Given the description of an element on the screen output the (x, y) to click on. 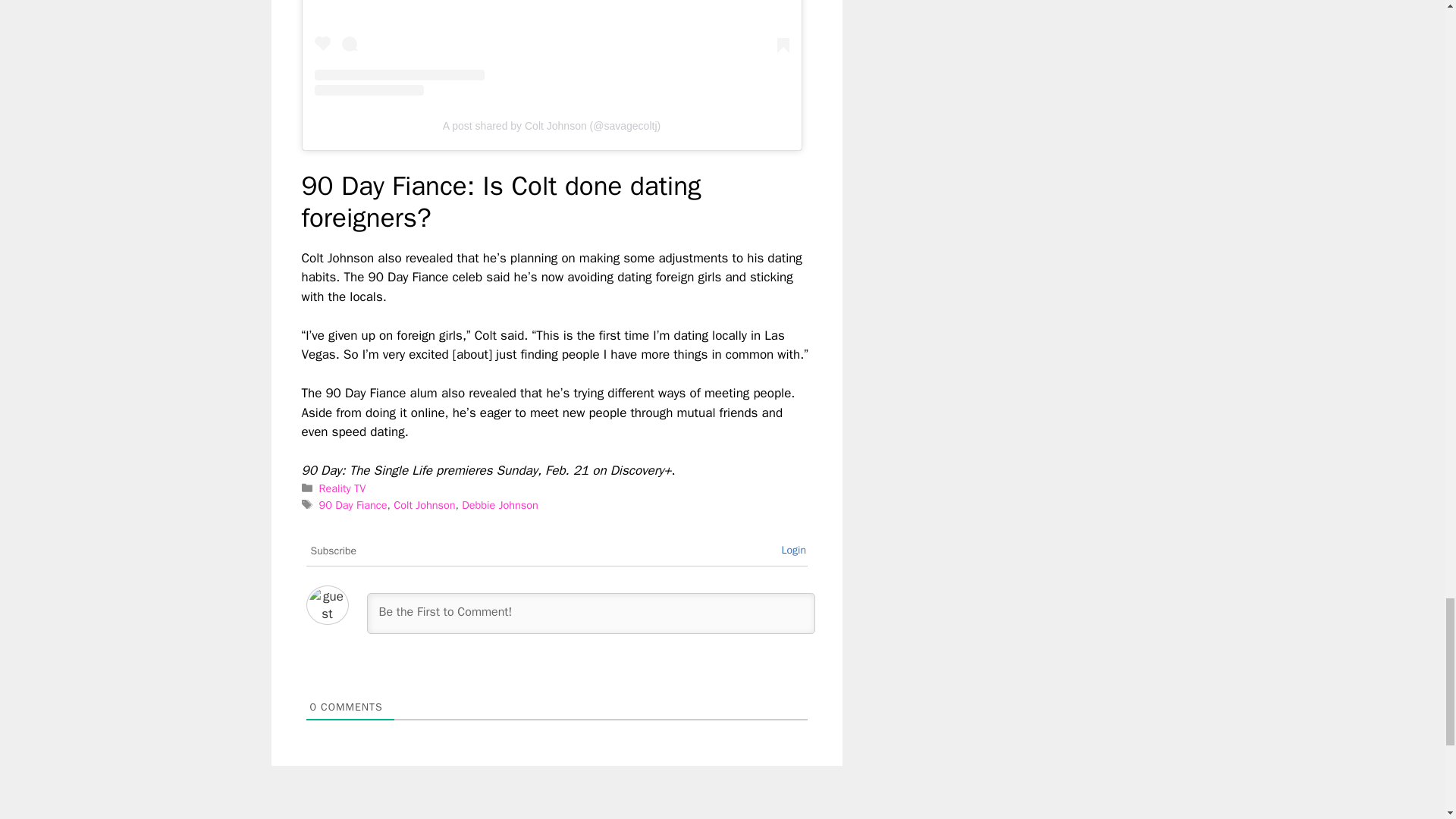
90 Day Fiance (352, 504)
Colt Johnson (423, 504)
Debbie Johnson (499, 504)
Login (793, 549)
View this post on Instagram (551, 48)
Reality TV (342, 488)
